Given the description of an element on the screen output the (x, y) to click on. 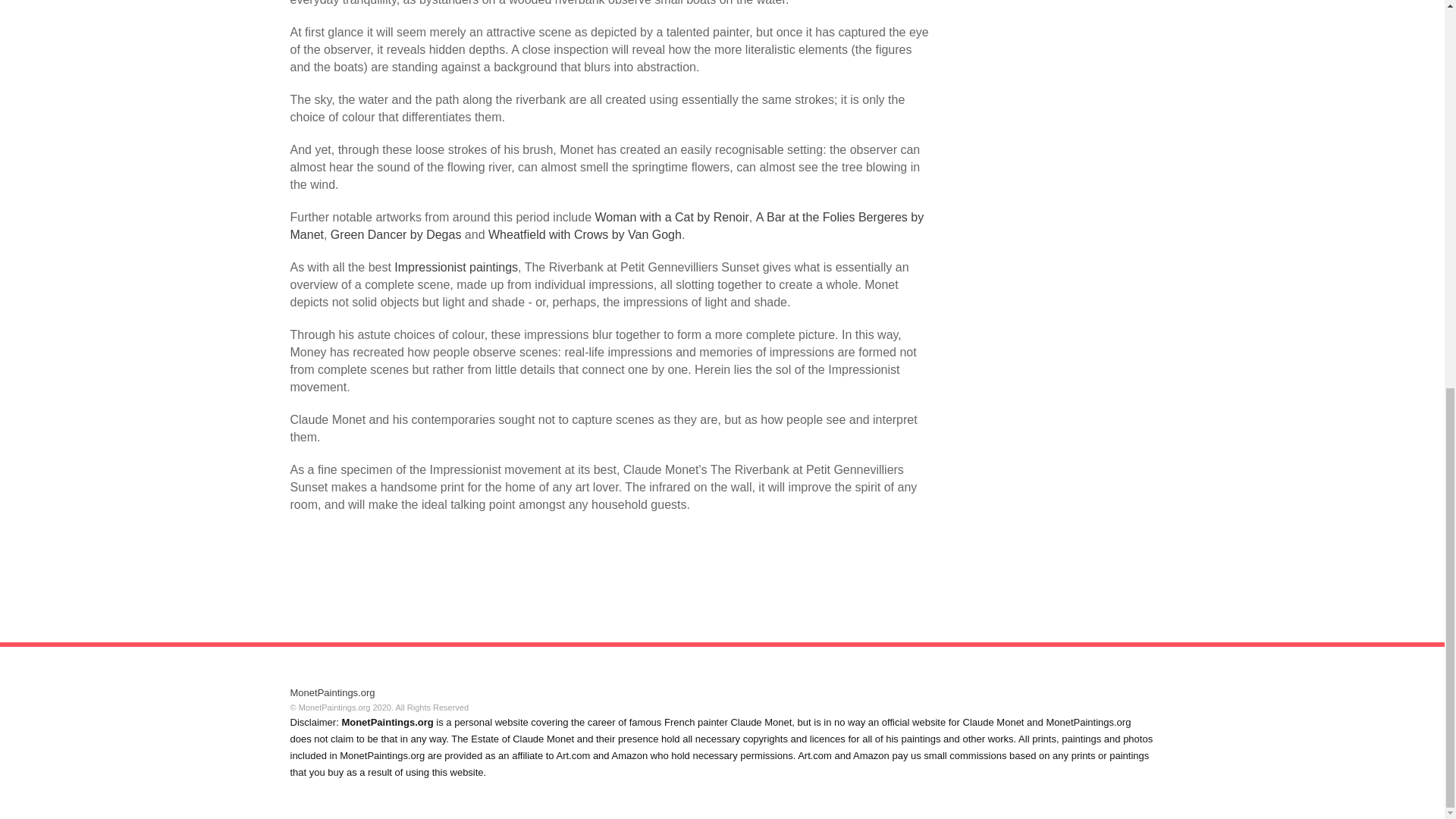
Woman with a Cat by Renoir (671, 216)
MonetPaintings.org (331, 692)
A Bar at the Folies Bergeres by Manet (606, 225)
Wheatfield with Crows by Van Gogh (584, 234)
Green Dancer by Degas (395, 234)
Impressionist paintings (456, 267)
